Given the description of an element on the screen output the (x, y) to click on. 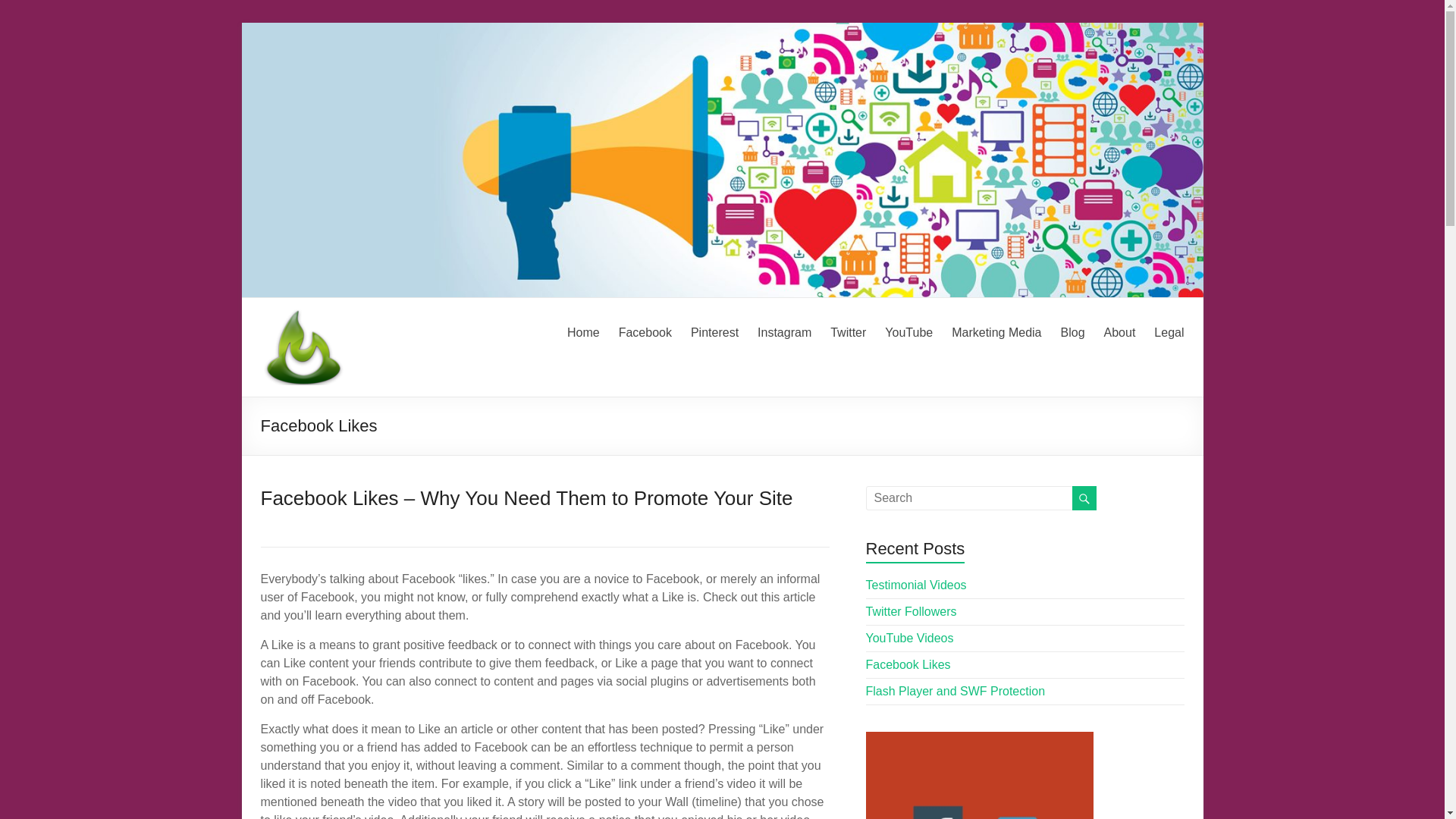
Twitter (847, 330)
Home (583, 330)
Legal (1168, 330)
Testimonial Videos (916, 584)
YouTube (909, 330)
Blog (1071, 330)
YouTube Videos (909, 637)
Facebook Likes (908, 664)
Pinterest (714, 330)
Flash Player and SWF Protection (955, 690)
Instagram (783, 330)
Marketing Media (996, 330)
About (1119, 330)
Facebook (644, 330)
Twitter Followers (911, 611)
